Given the description of an element on the screen output the (x, y) to click on. 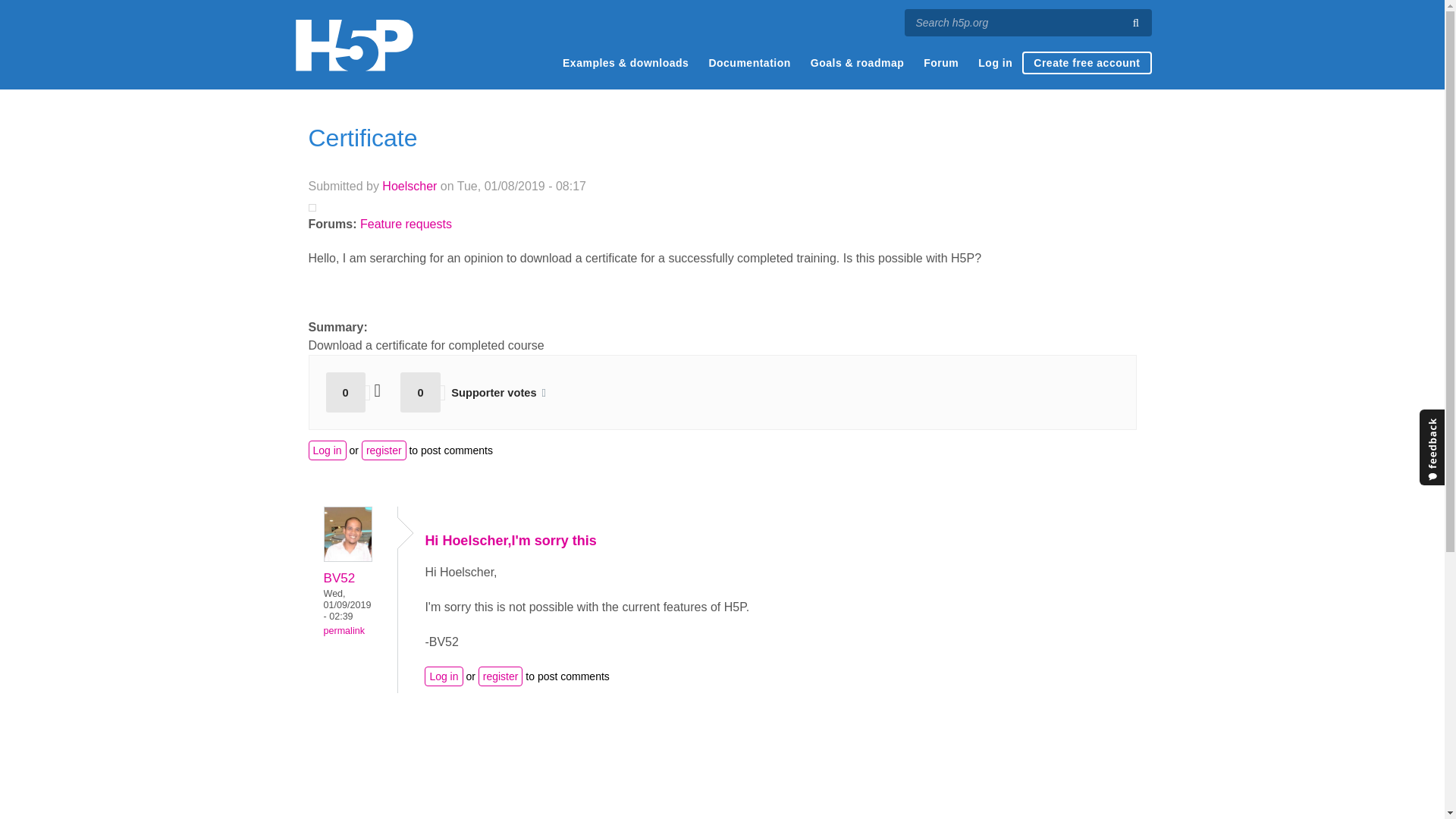
View user profile. (347, 557)
BV52 (339, 577)
Front page (353, 44)
BV52's picture (347, 533)
register (383, 450)
permalink (343, 630)
View user profile. (339, 577)
Documentation (748, 62)
Hi Hoelscher,I'm sorry this (510, 540)
Forum (940, 62)
